Given the description of an element on the screen output the (x, y) to click on. 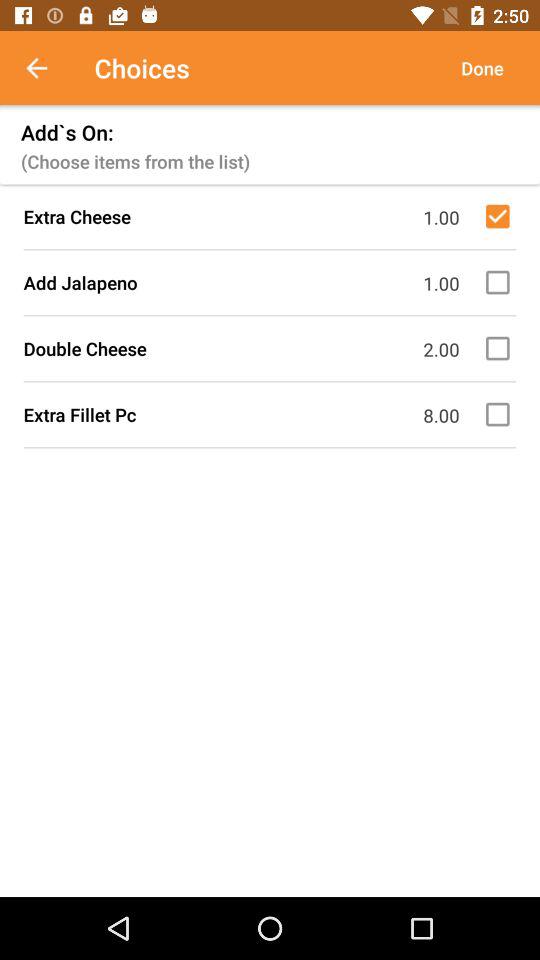
food add-on check box (501, 282)
